Given the description of an element on the screen output the (x, y) to click on. 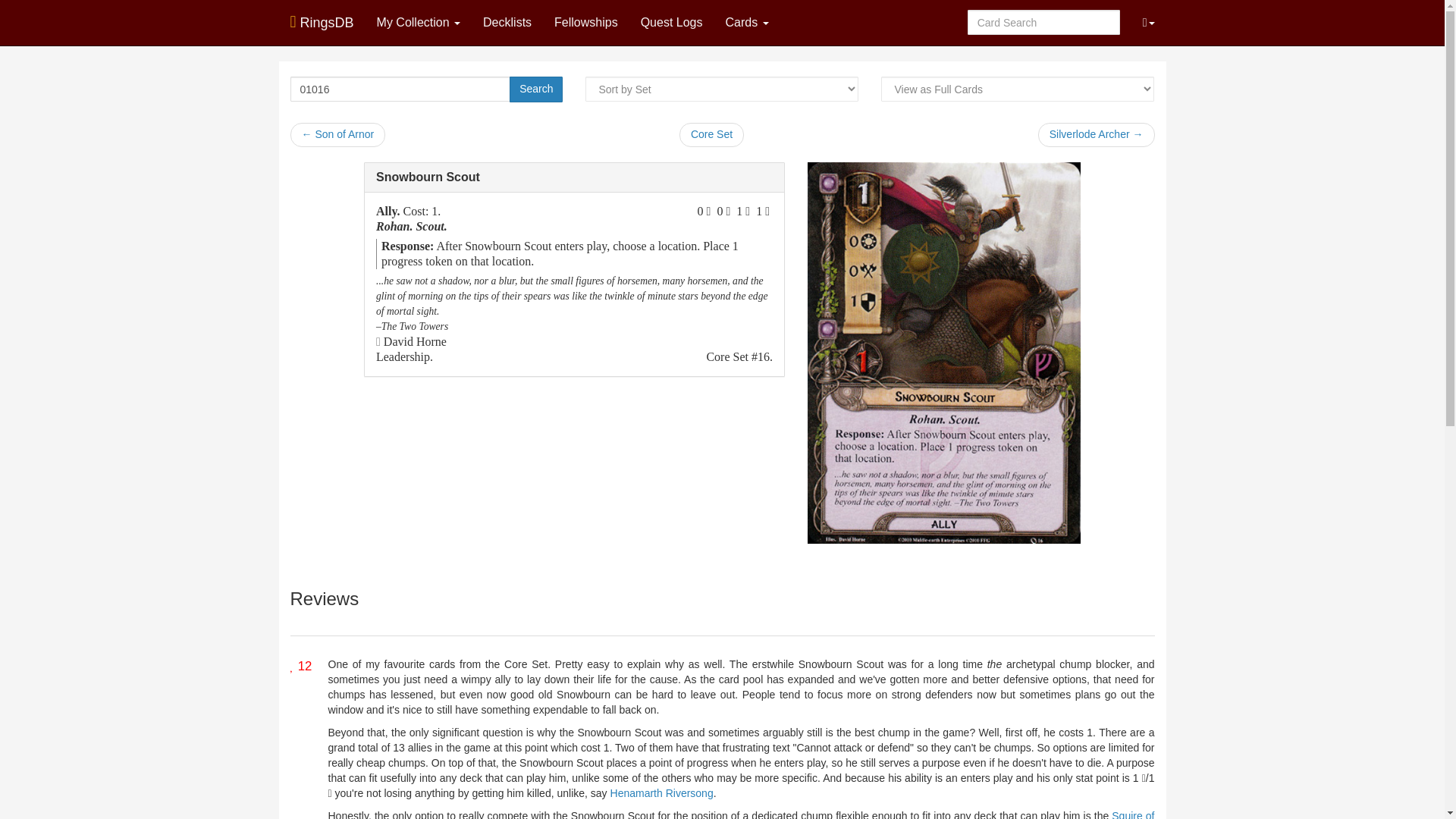
Henamarth Riversong (661, 793)
12 (300, 666)
My Collection (418, 22)
Core Set (711, 134)
Search (535, 89)
RingsDB (322, 18)
Cards (747, 22)
01016 (400, 88)
Fellowships (585, 22)
